Given the description of an element on the screen output the (x, y) to click on. 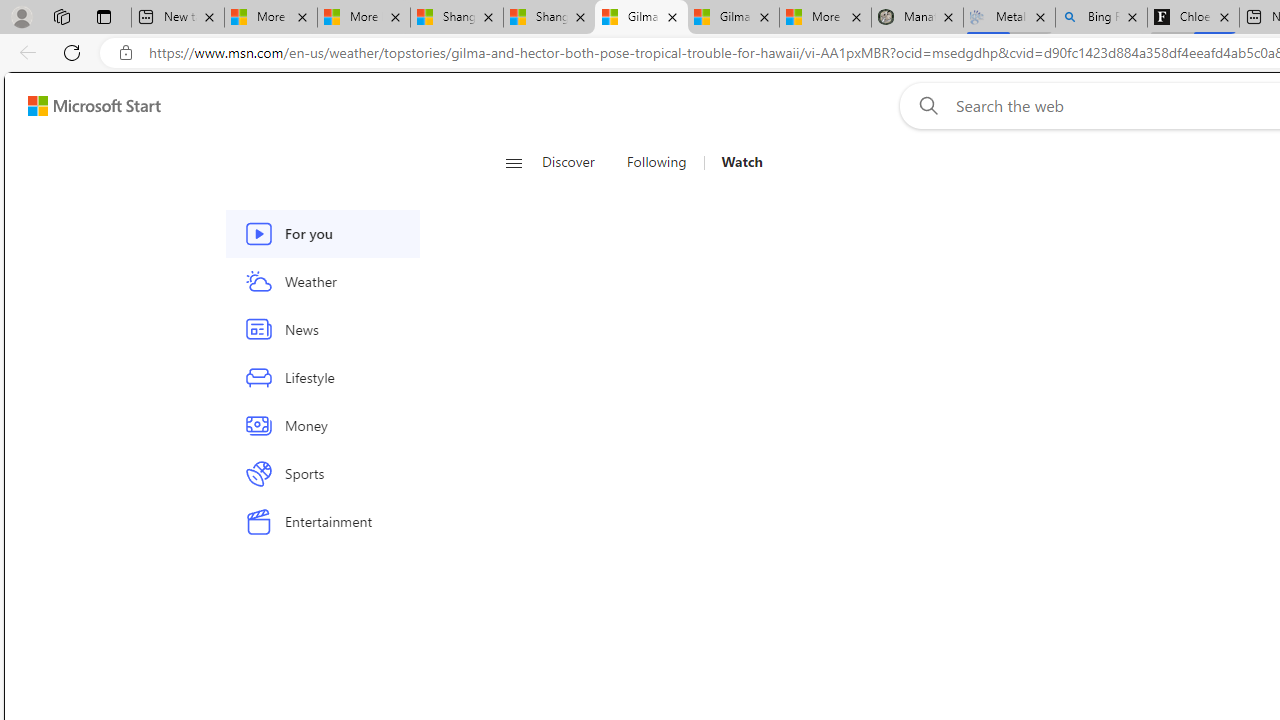
Bing Real Estate - Home sales and rental listings (1101, 17)
Web search (924, 105)
Skip to footer (82, 105)
